Given the description of an element on the screen output the (x, y) to click on. 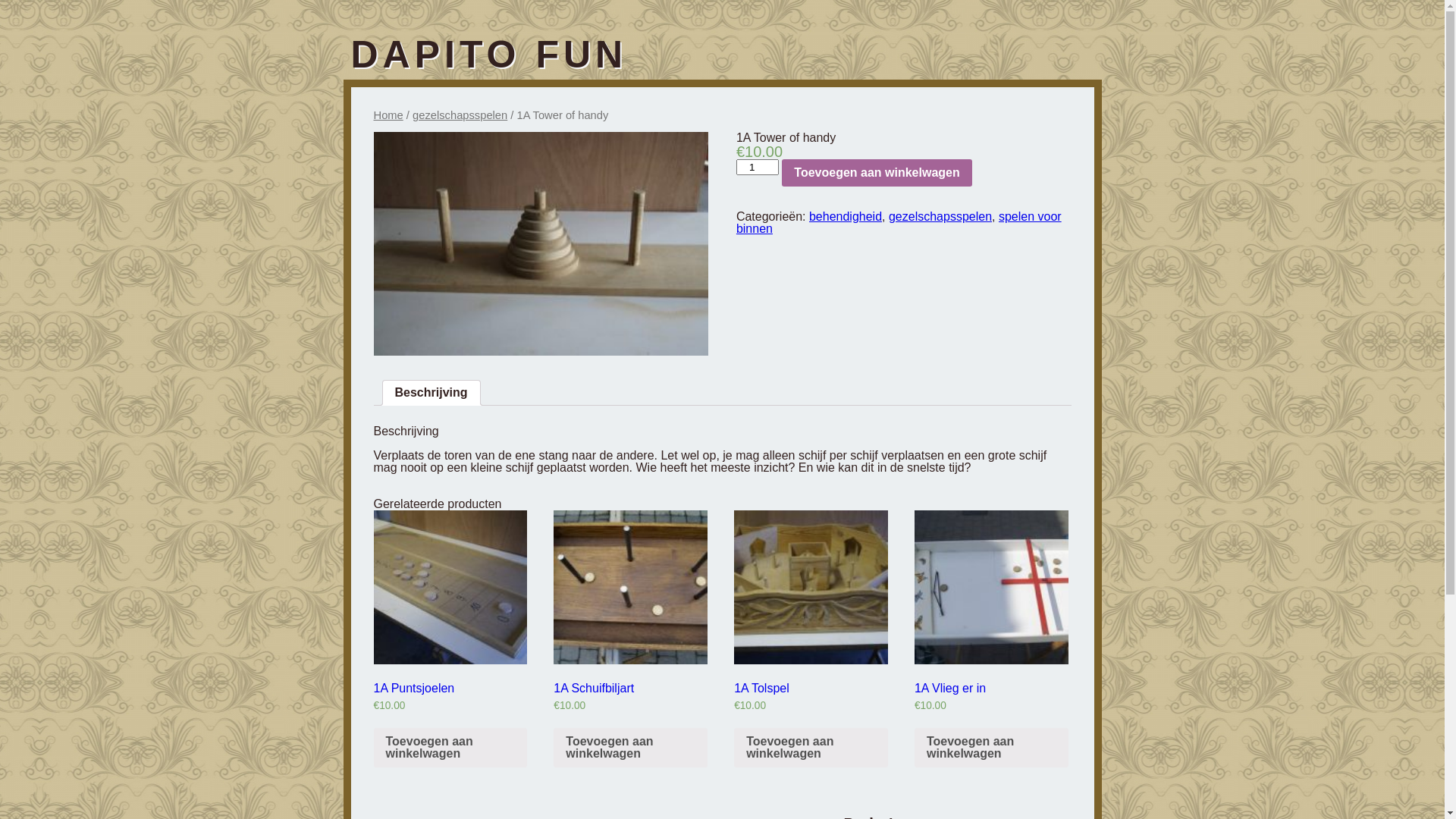
behendigheid Element type: text (845, 216)
Beschrijving Element type: text (430, 392)
Toevoegen aan winkelwagen Element type: text (630, 747)
Aantal Element type: hover (757, 167)
Toevoegen aan winkelwagen Element type: text (811, 747)
spelen voor binnen Element type: text (898, 222)
gezelschapsspelen Element type: text (459, 115)
DAPITO FUN Element type: text (488, 54)
gezelschapsspelen Element type: text (939, 216)
Home Element type: text (387, 115)
Toevoegen aan winkelwagen Element type: text (991, 747)
Toevoegen aan winkelwagen Element type: text (876, 172)
tower of handy Element type: hover (540, 242)
Toevoegen aan winkelwagen Element type: text (450, 747)
